Given the description of an element on the screen output the (x, y) to click on. 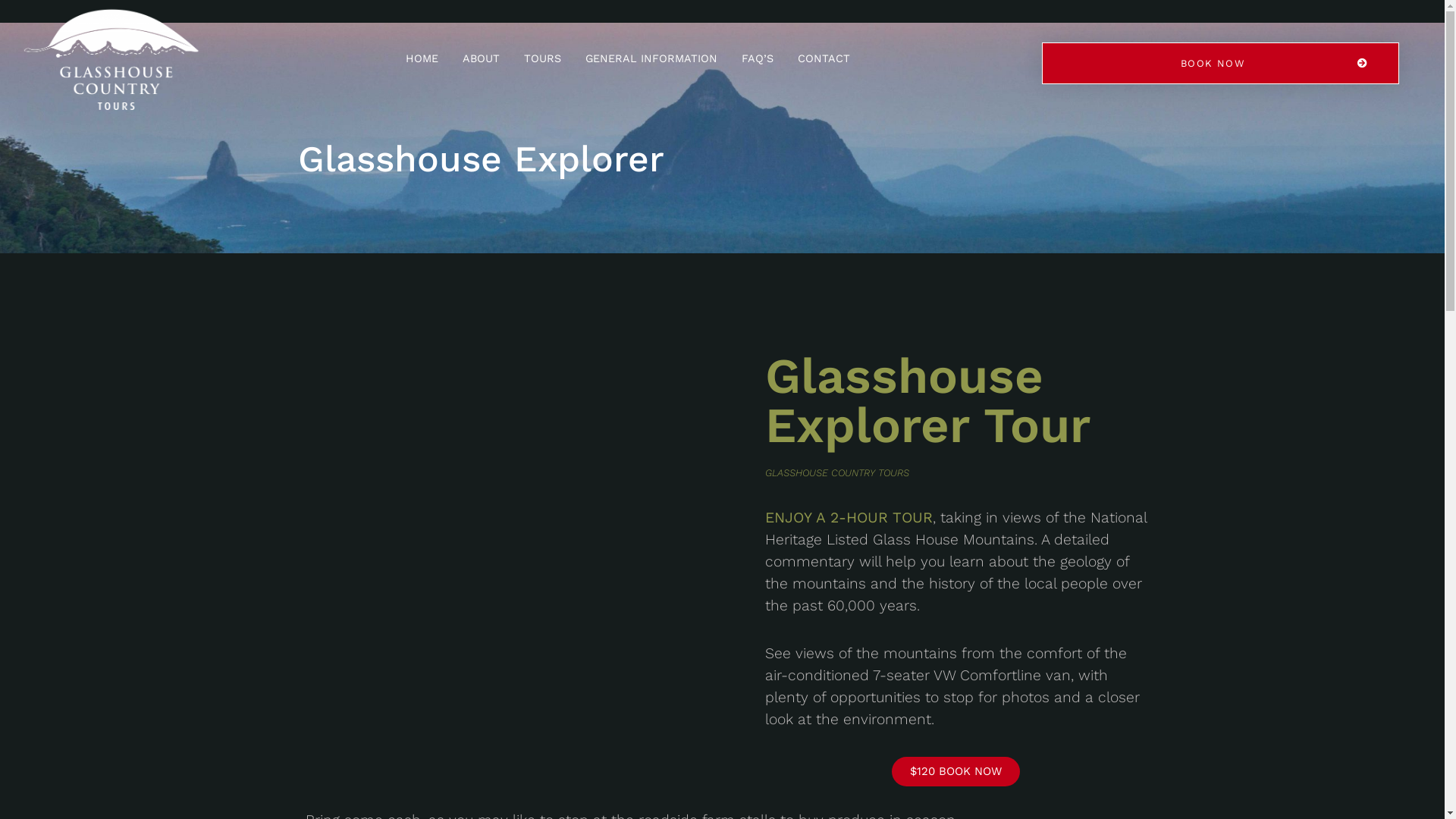
ABOUT Element type: text (480, 57)
GENERAL INFORMATION Element type: text (651, 57)
TOURS Element type: text (542, 57)
CONTACT Element type: text (823, 57)
BOOK NOW Element type: text (1220, 63)
$120 BOOK NOW Element type: text (955, 771)
HOME Element type: text (421, 57)
